Given the description of an element on the screen output the (x, y) to click on. 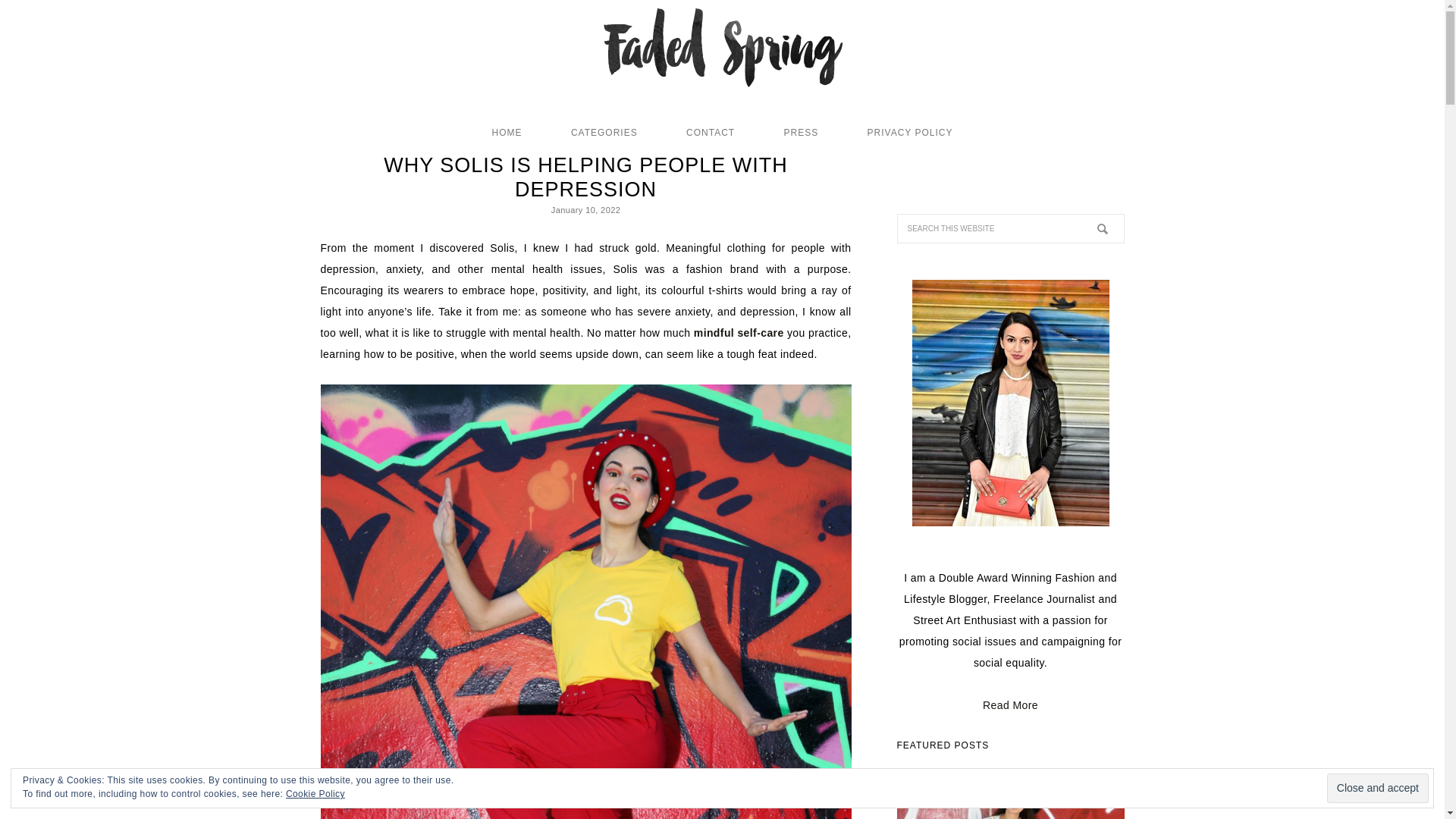
HOME (506, 132)
PRIVACY POLICY (909, 132)
mindful self-care (739, 332)
Read More (1010, 705)
Close and accept (1377, 788)
PRESS (800, 132)
faded spring (721, 51)
CONTACT (710, 132)
CATEGORIES (604, 132)
